Given the description of an element on the screen output the (x, y) to click on. 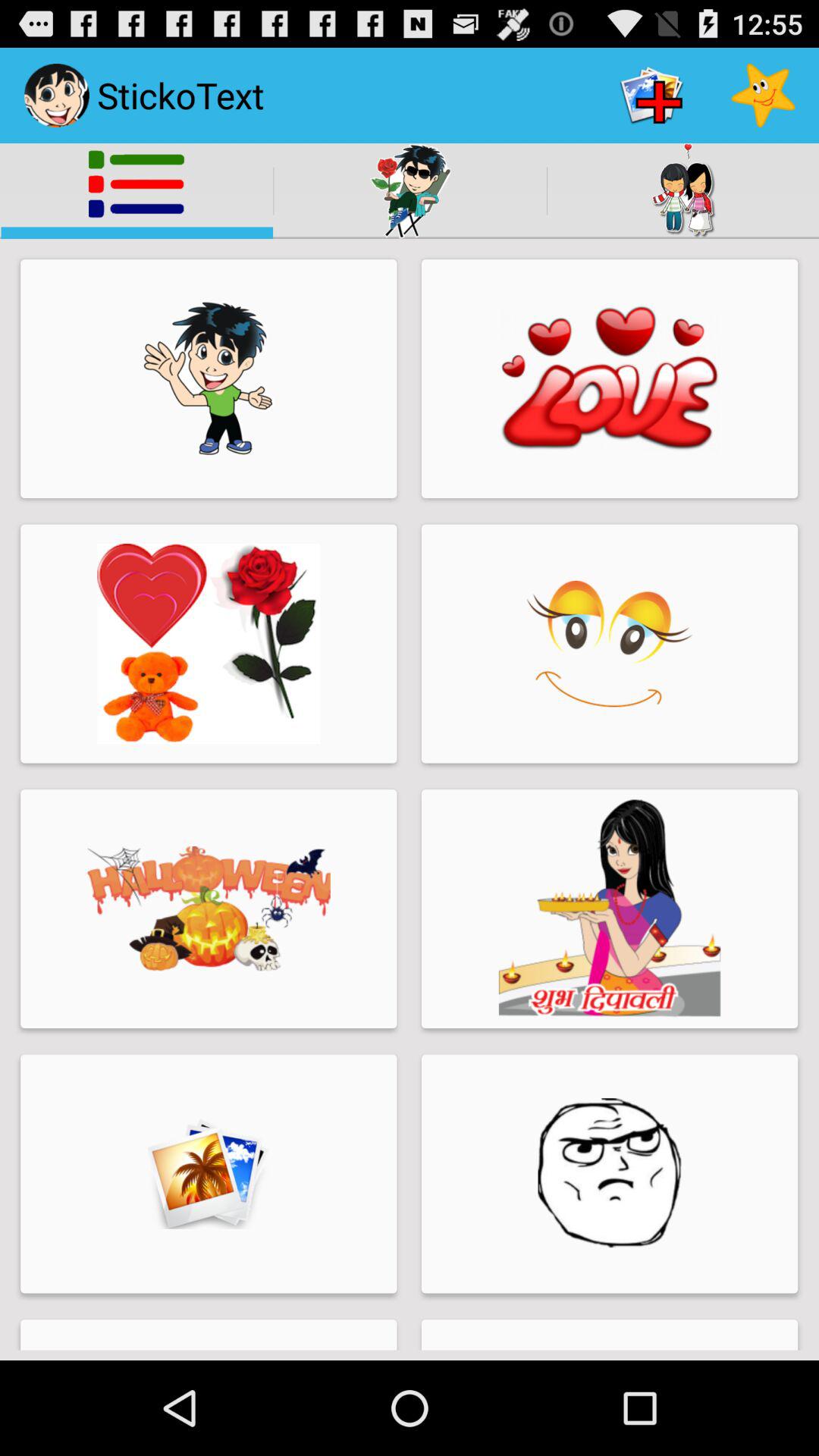
go to the first thumbnail (208, 379)
select the image below the heart image (609, 643)
go to the second thumbnail on the left (208, 643)
select the icon of the 2 girls (684, 190)
select the last image which is on the right (609, 1173)
select the image beside the sticko text on the top left (56, 95)
select the love image with 4 heart emojis above it (609, 378)
click on the halloween icon (208, 908)
